Given the description of an element on the screen output the (x, y) to click on. 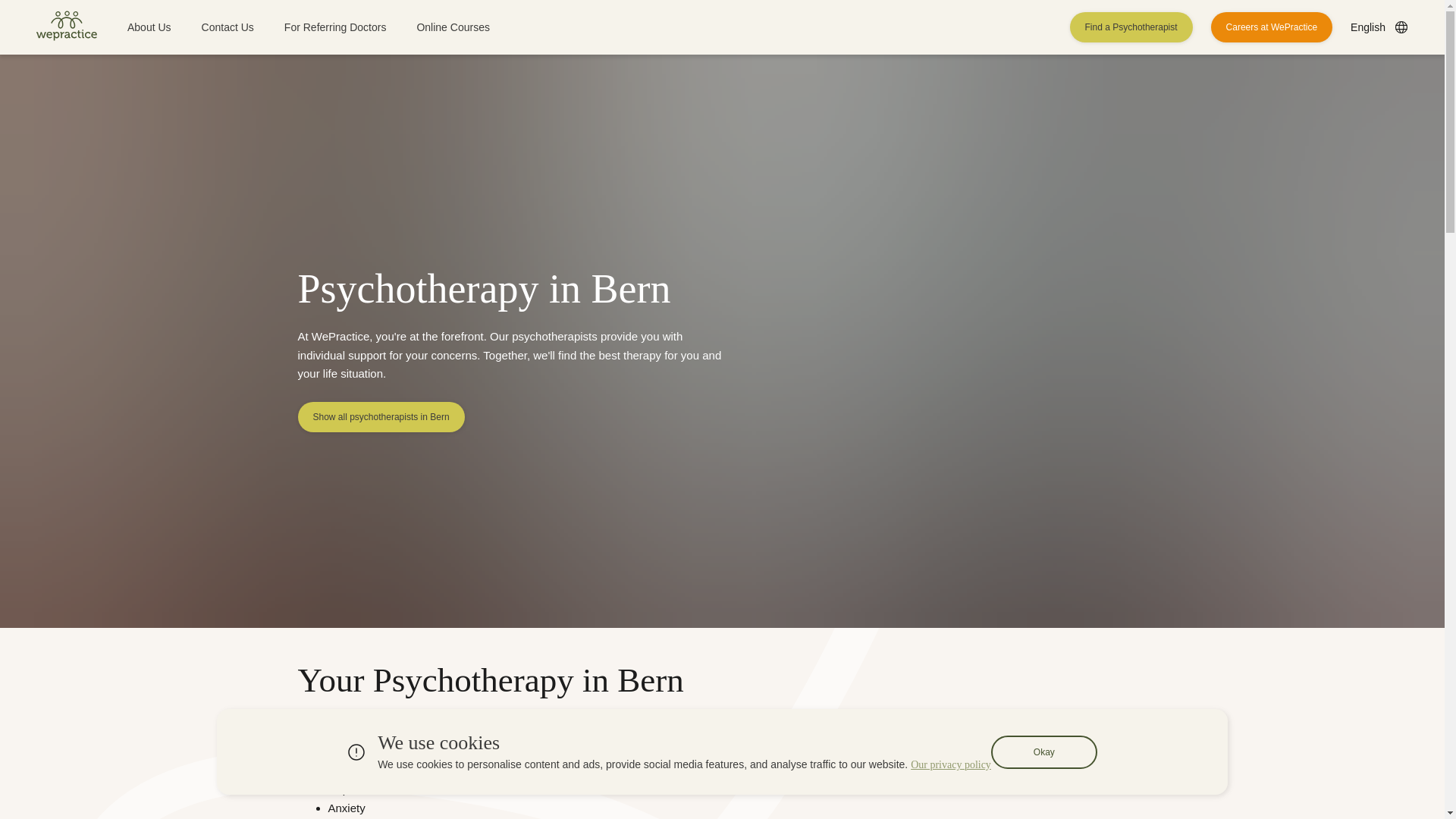
Careers at WePractice (1272, 27)
Show all psychotherapists in Bern (380, 417)
About Us (149, 27)
For Referring Doctors (335, 27)
Online Courses (452, 27)
Our privacy policy (951, 764)
Okay (1044, 752)
Contact Us (227, 27)
Find a Psychotherapist (1131, 27)
